Given the description of an element on the screen output the (x, y) to click on. 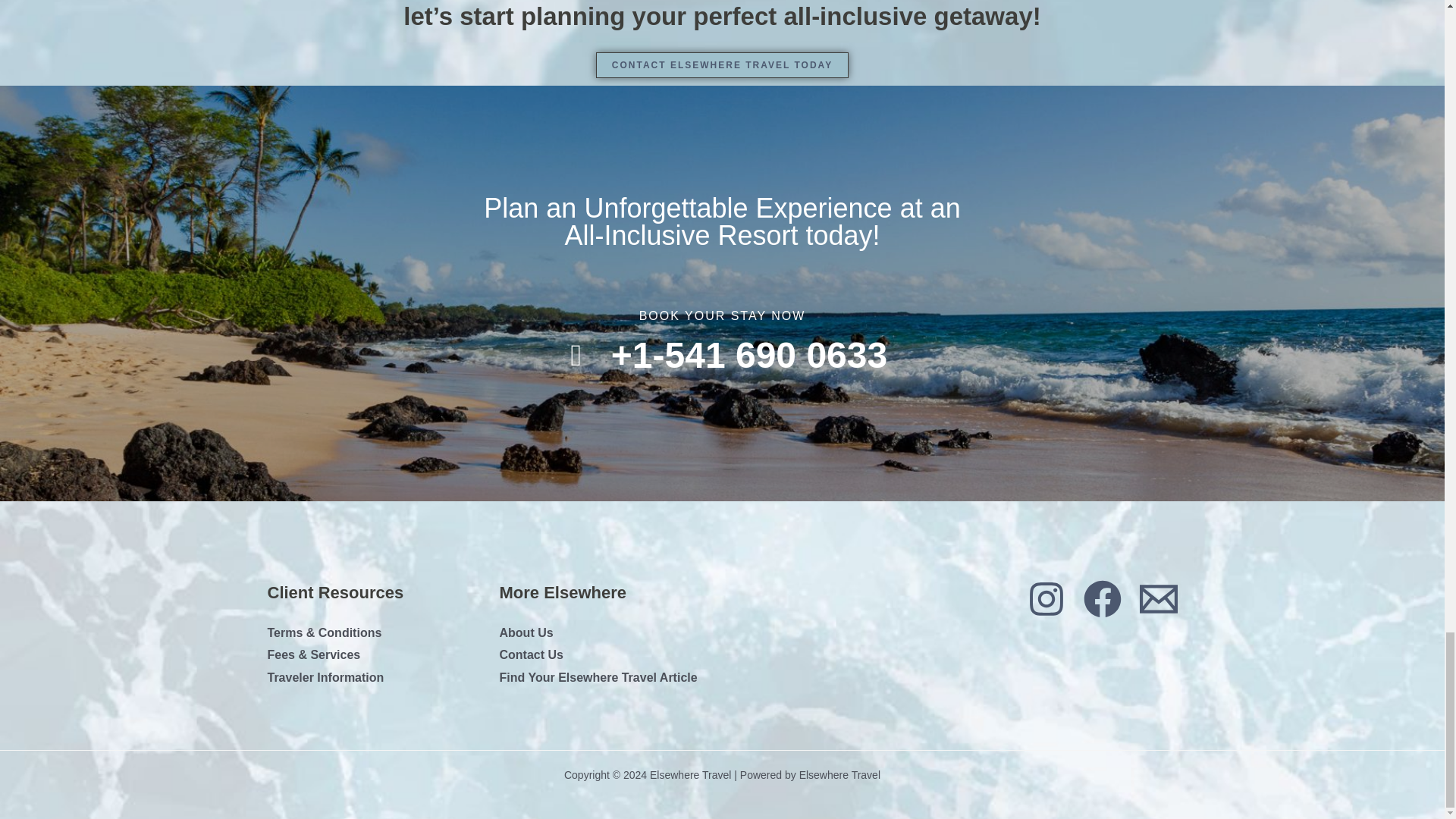
About Us (526, 632)
Traveler Information (325, 676)
Contact Us (530, 654)
Find Your Elsewhere Travel Article (598, 676)
CONTACT ELSEWHERE TRAVEL TODAY (721, 64)
